Given the description of an element on the screen output the (x, y) to click on. 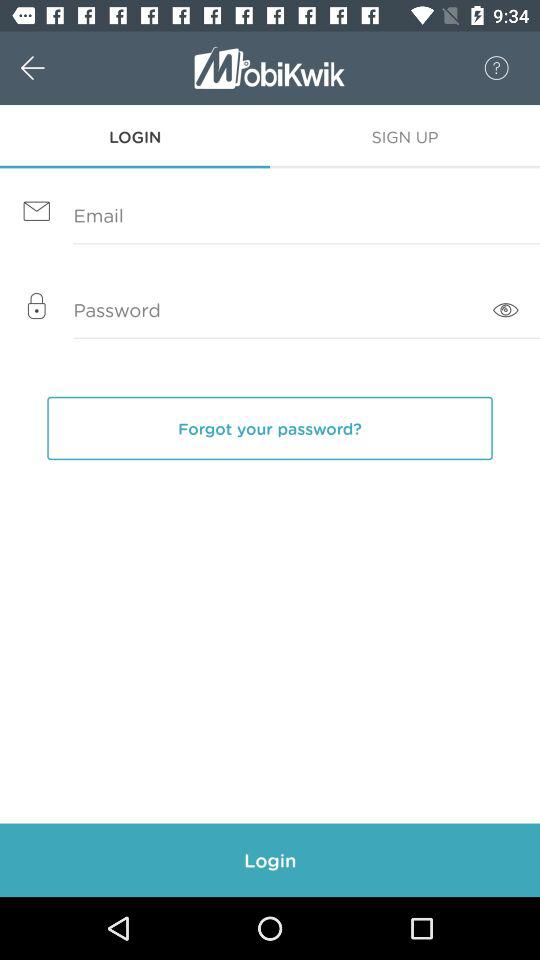
select the item below the r (405, 136)
